Given the description of an element on the screen output the (x, y) to click on. 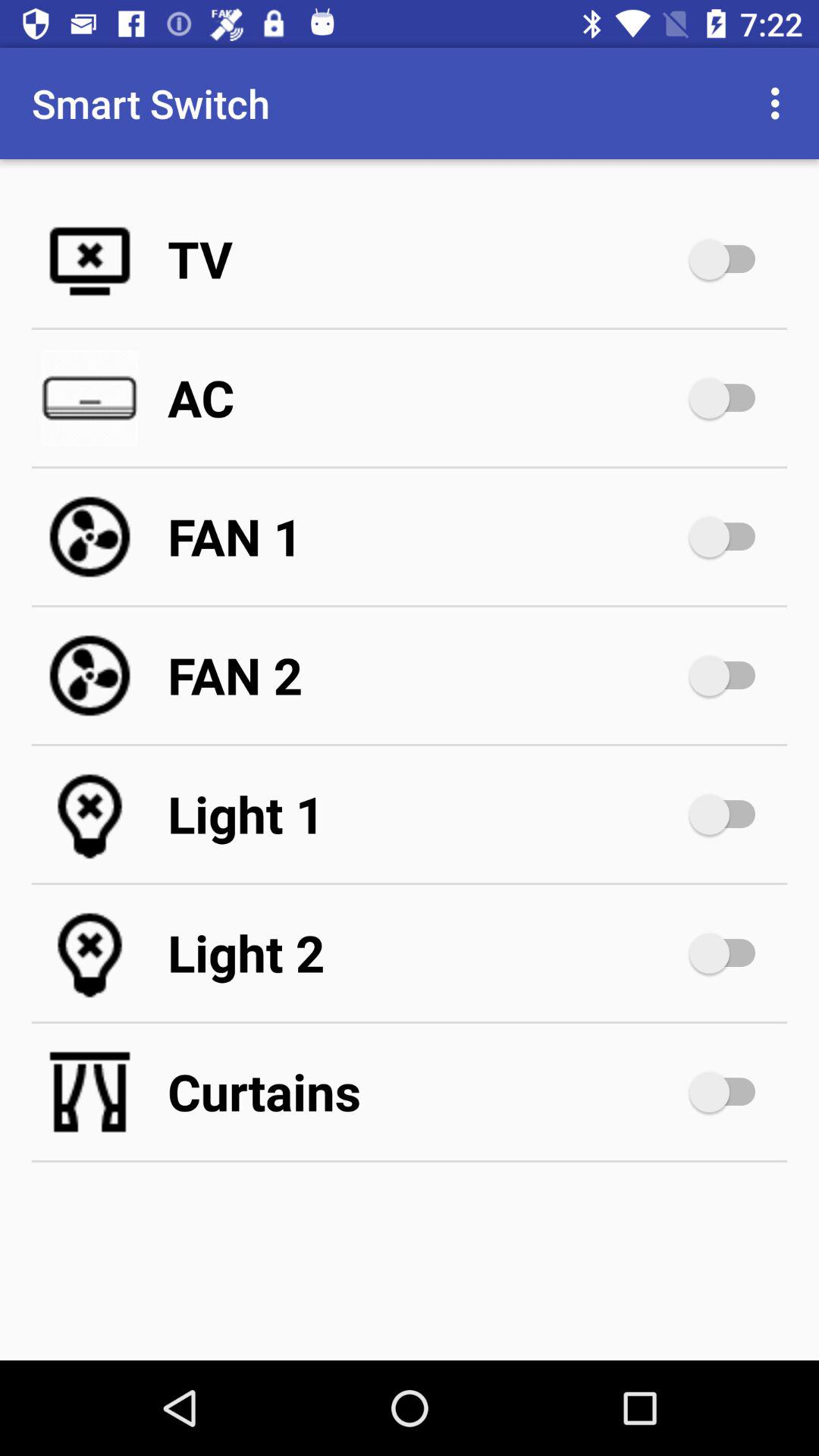
turn off item above the curtains icon (424, 953)
